Given the description of an element on the screen output the (x, y) to click on. 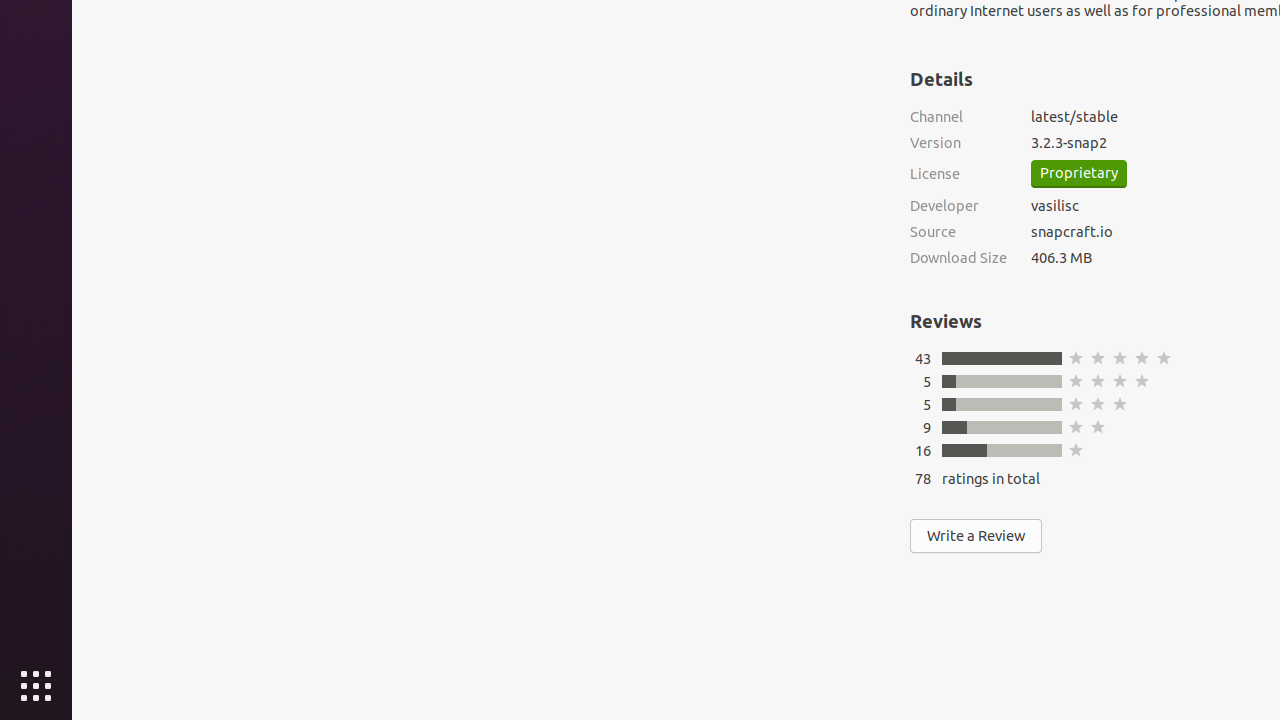
Version Element type: label (958, 142)
5 Element type: label (927, 404)
78 Element type: label (923, 478)
License Element type: label (958, 174)
Reviews Element type: label (946, 321)
